Given the description of an element on the screen output the (x, y) to click on. 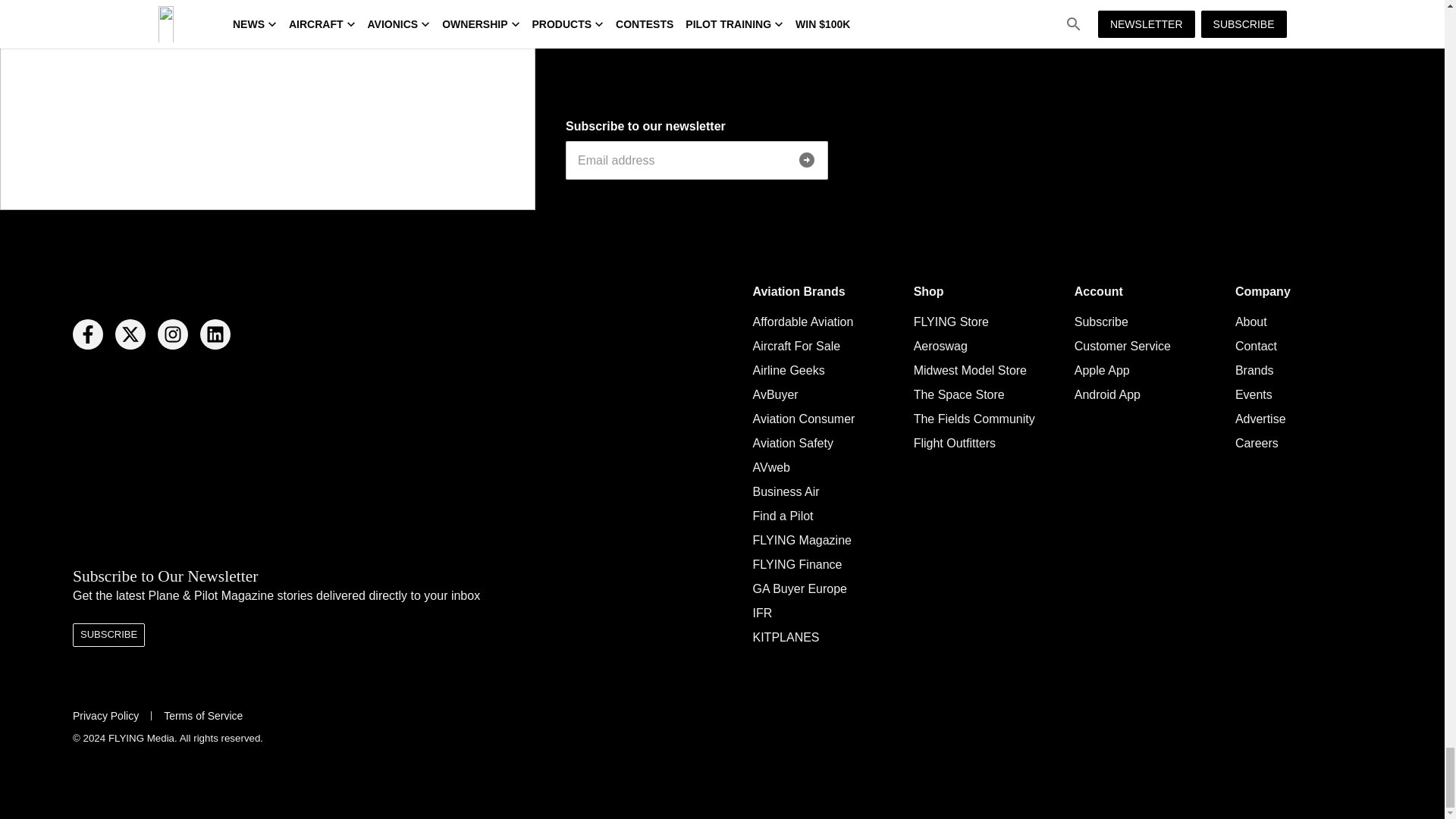
Submit (807, 159)
Facebook (87, 334)
Linkedin (215, 334)
Instagram (172, 334)
Twitter (130, 334)
